Given the description of an element on the screen output the (x, y) to click on. 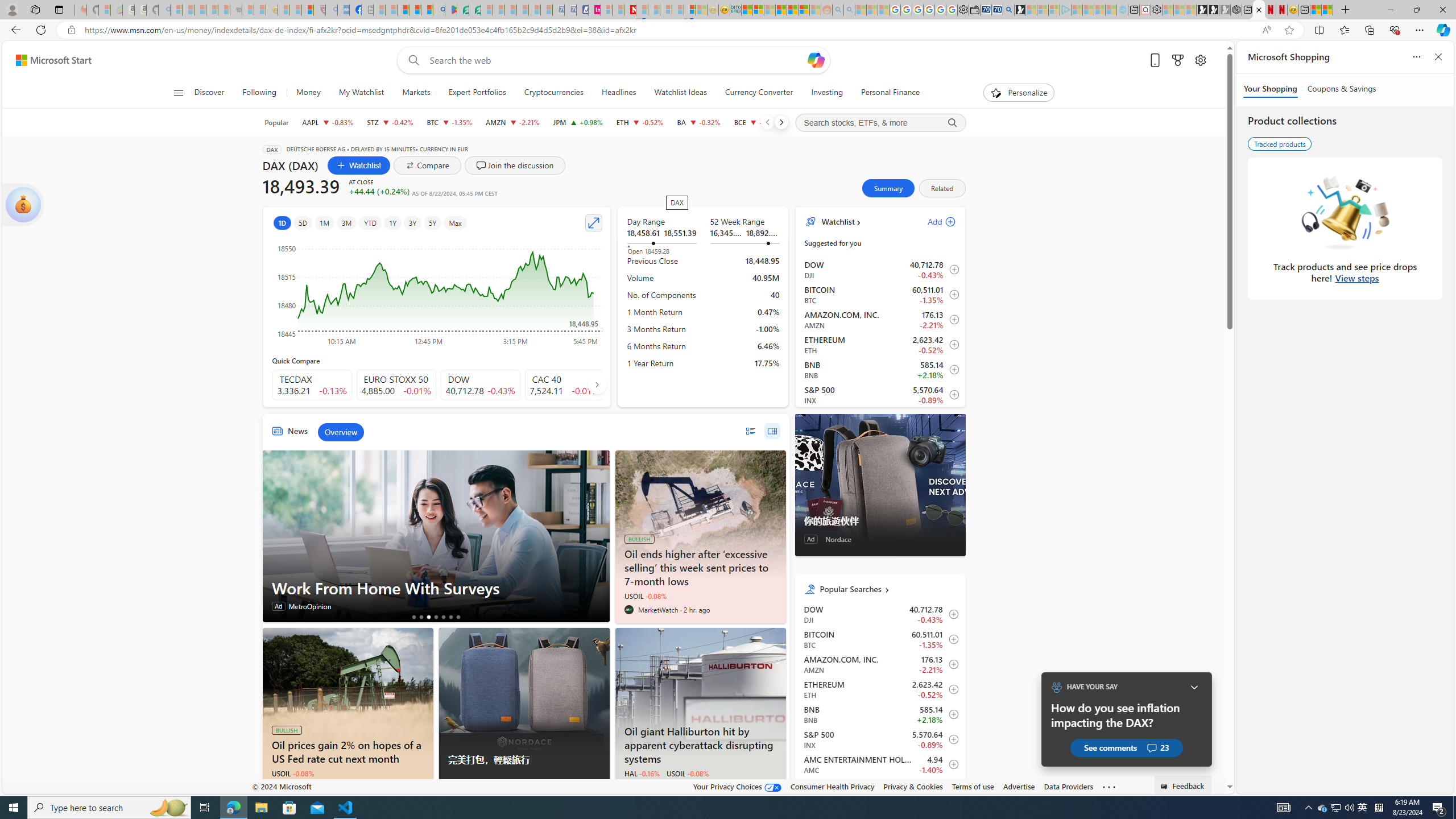
Markets (415, 92)
AdChoices (600, 788)
Add to Watchlist (950, 789)
Your Privacy Choices (737, 786)
Jobs - lastminute.com Investor Portal (594, 9)
